Given the description of an element on the screen output the (x, y) to click on. 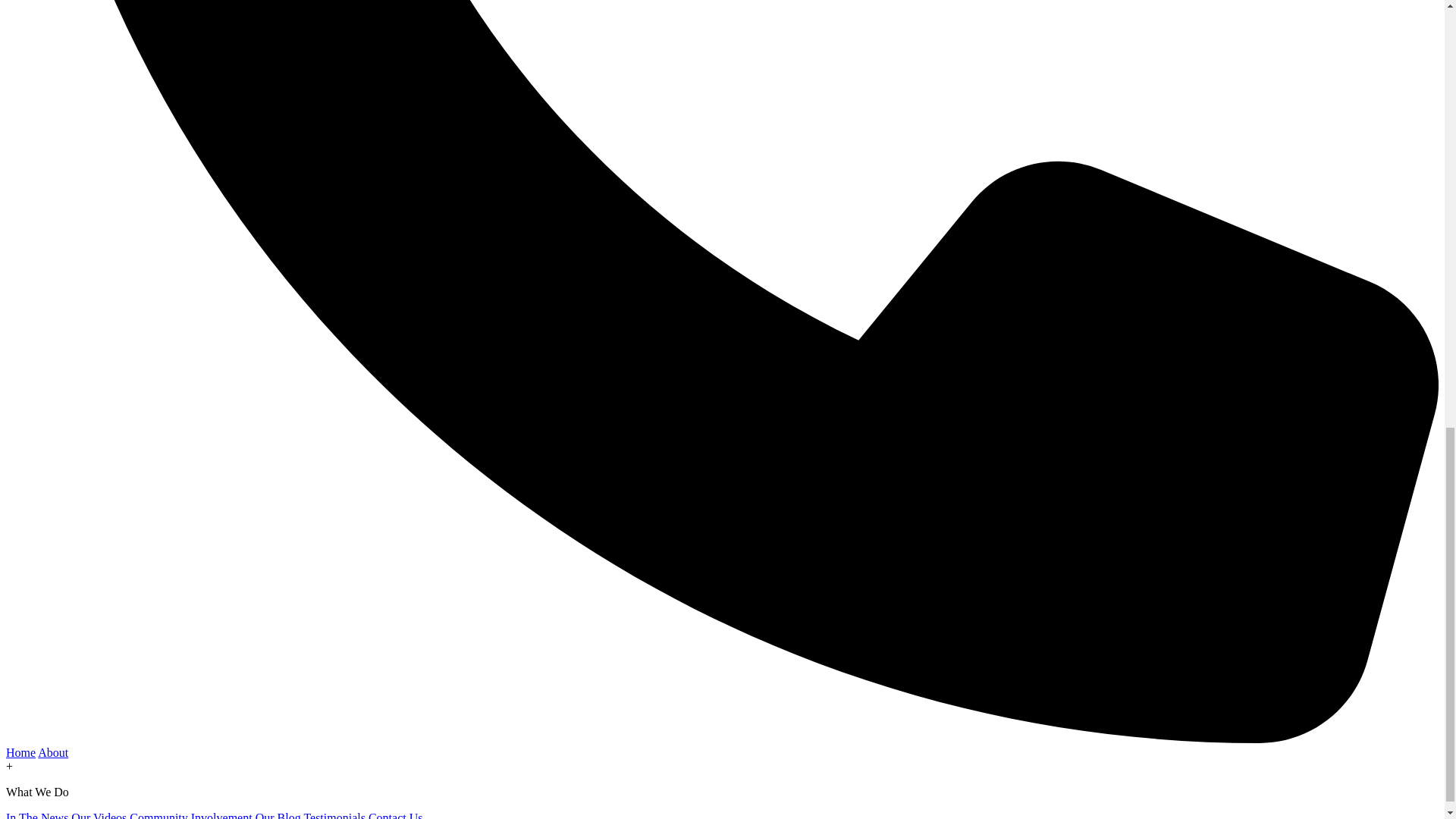
Home (19, 752)
About (52, 752)
